Given the description of an element on the screen output the (x, y) to click on. 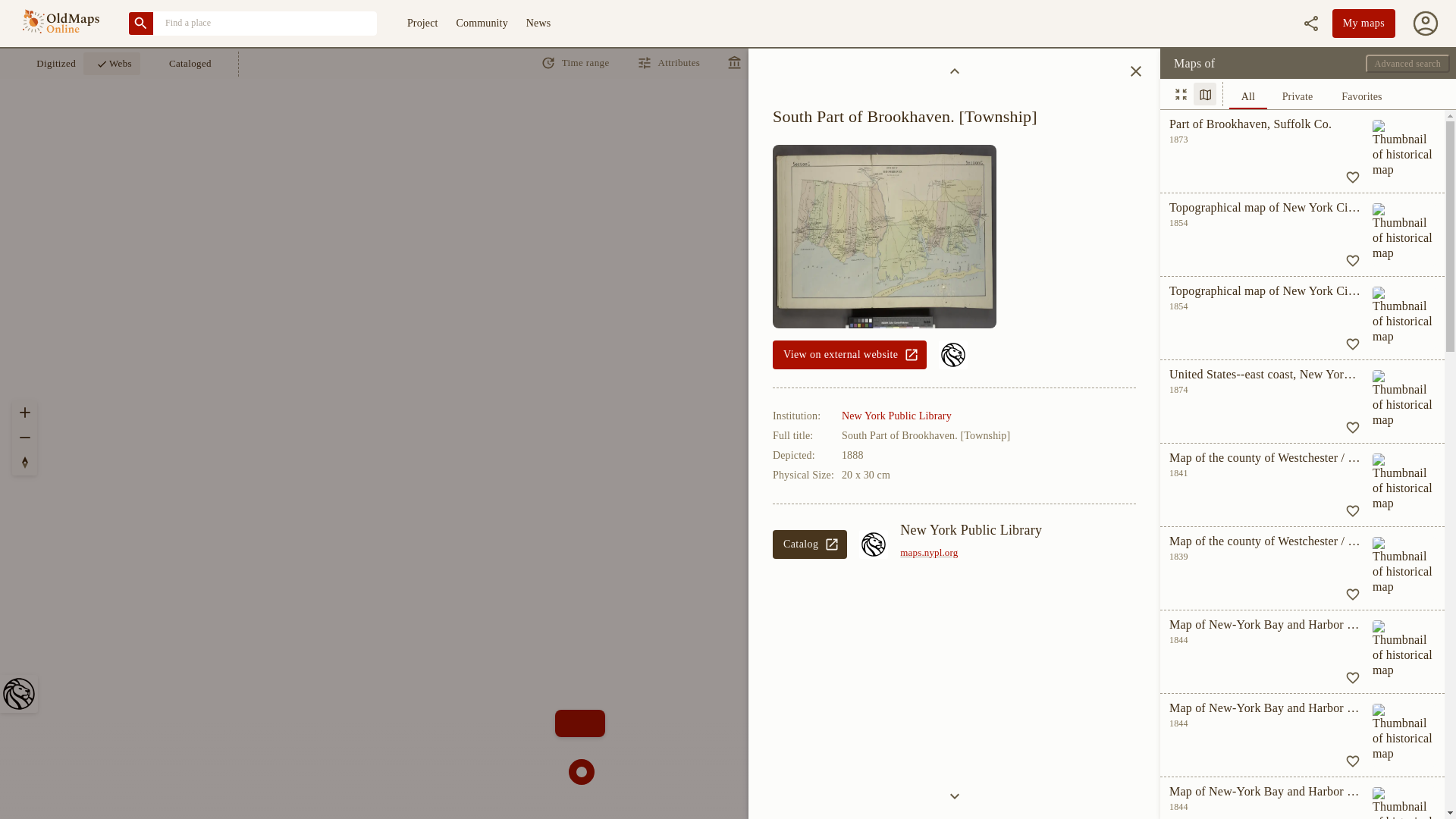
My maps (1363, 23)
Zoom out (24, 437)
Catalog (1312, 93)
Community (810, 543)
Private (482, 23)
0 (1296, 99)
Digitized (1180, 93)
1 (47, 63)
View on external website (1204, 93)
News (849, 354)
maps.nypl.org (537, 23)
Reset bearing to north (970, 552)
Project (24, 462)
All (422, 23)
